Given the description of an element on the screen output the (x, y) to click on. 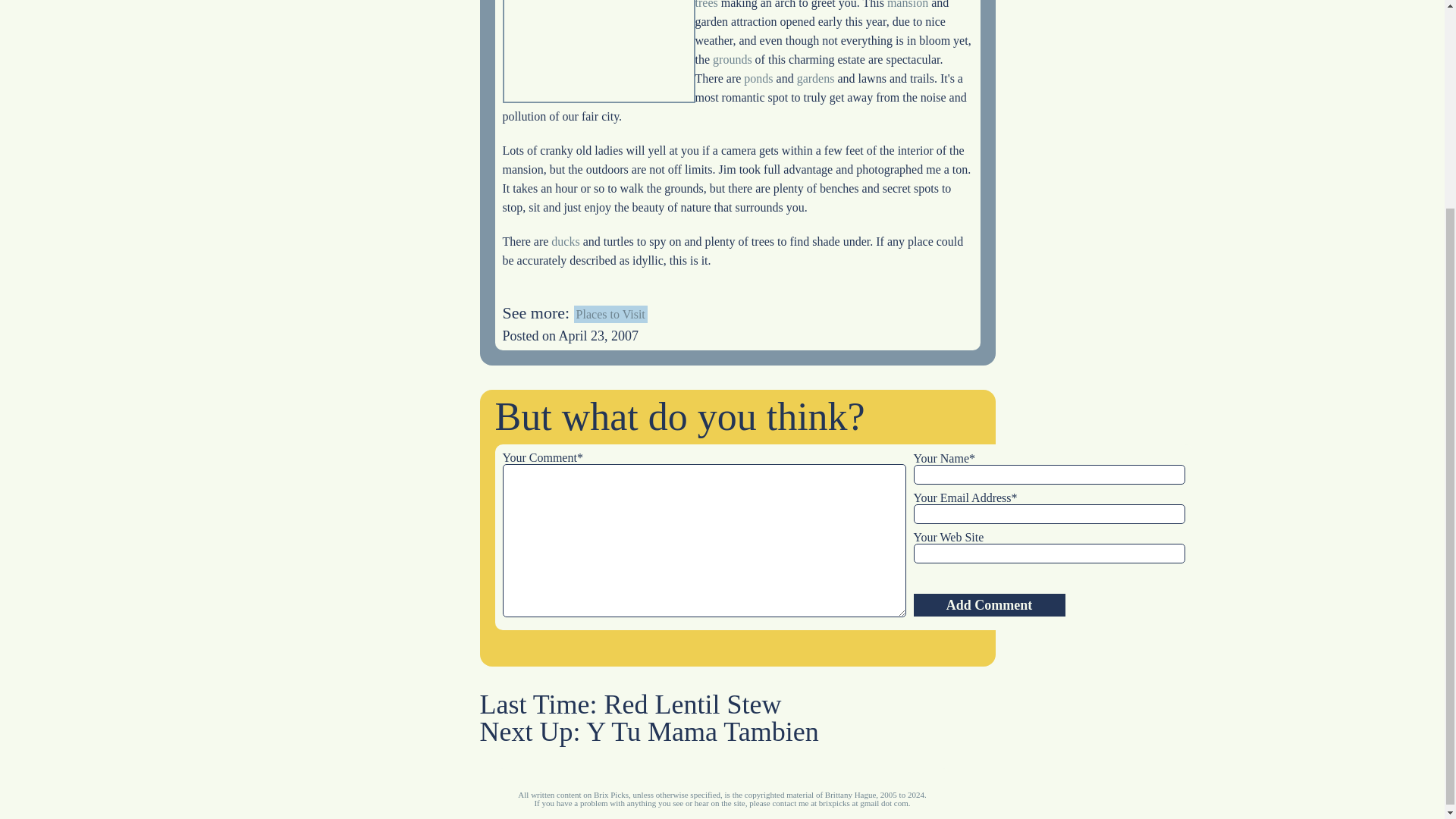
slopping giant trees (831, 4)
ducks (565, 241)
ponds (758, 78)
Places to Visit (610, 313)
Y Tu Mama Tambien (702, 731)
mansion (907, 4)
grounds (732, 59)
Red Lentil Stew (692, 704)
Add Comment (988, 604)
Old Westbury Gardens (598, 51)
